Given the description of an element on the screen output the (x, y) to click on. 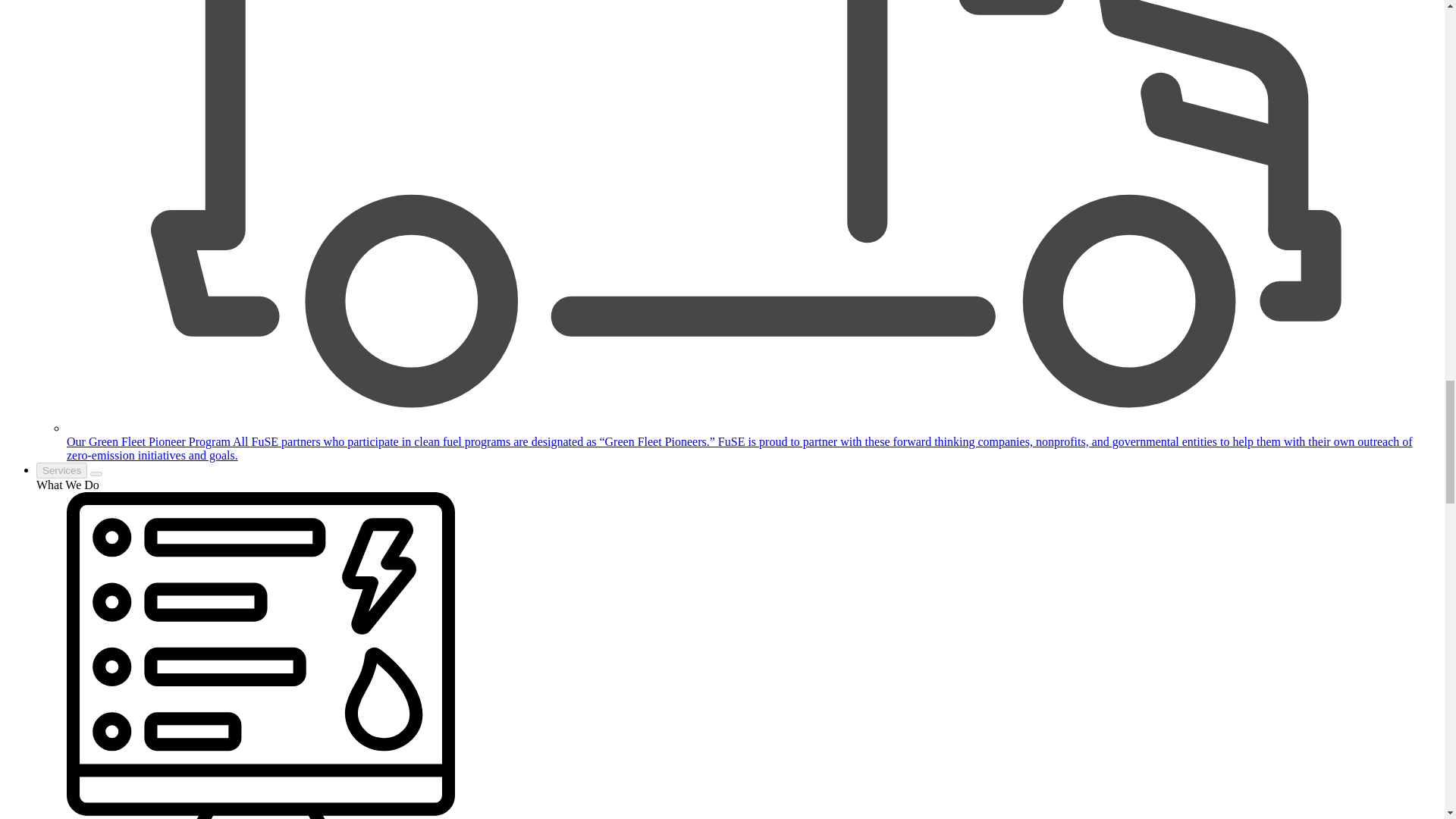
Services (61, 470)
